Given the description of an element on the screen output the (x, y) to click on. 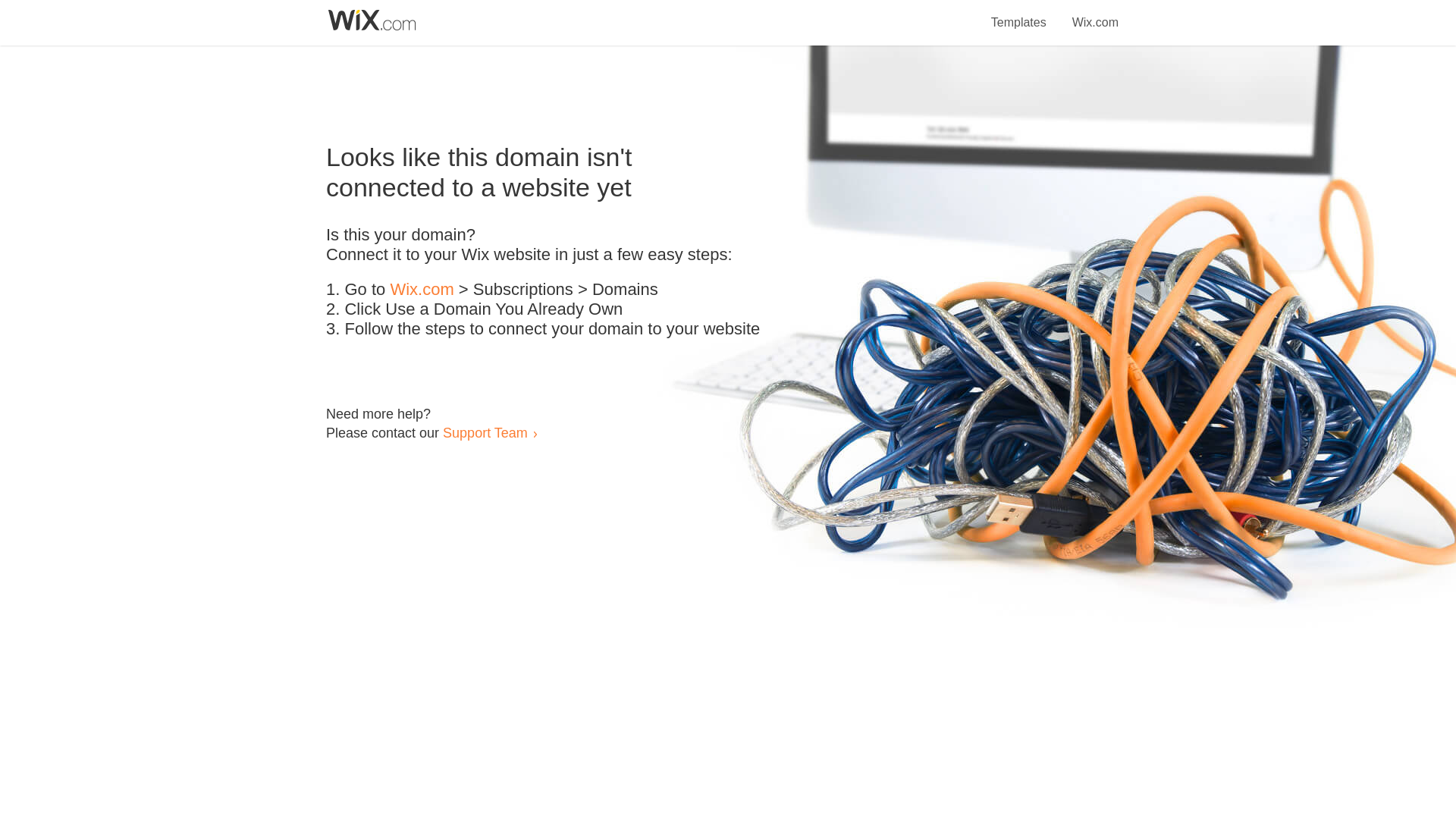
Wix.com (1095, 14)
Wix.com (421, 289)
Support Team (484, 432)
Templates (1018, 14)
